Given the description of an element on the screen output the (x, y) to click on. 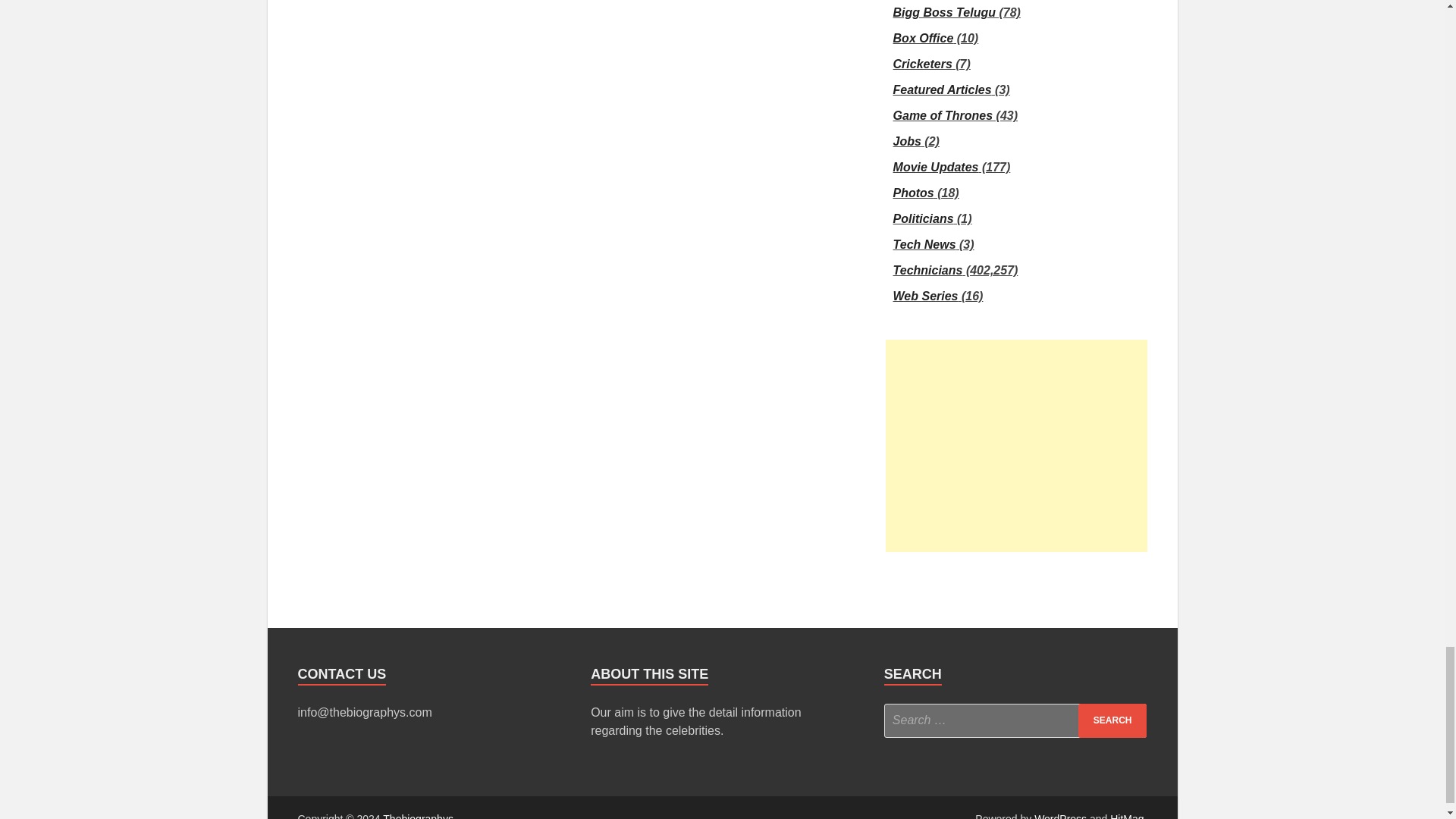
Search (1112, 720)
Search (1112, 720)
